Given the description of an element on the screen output the (x, y) to click on. 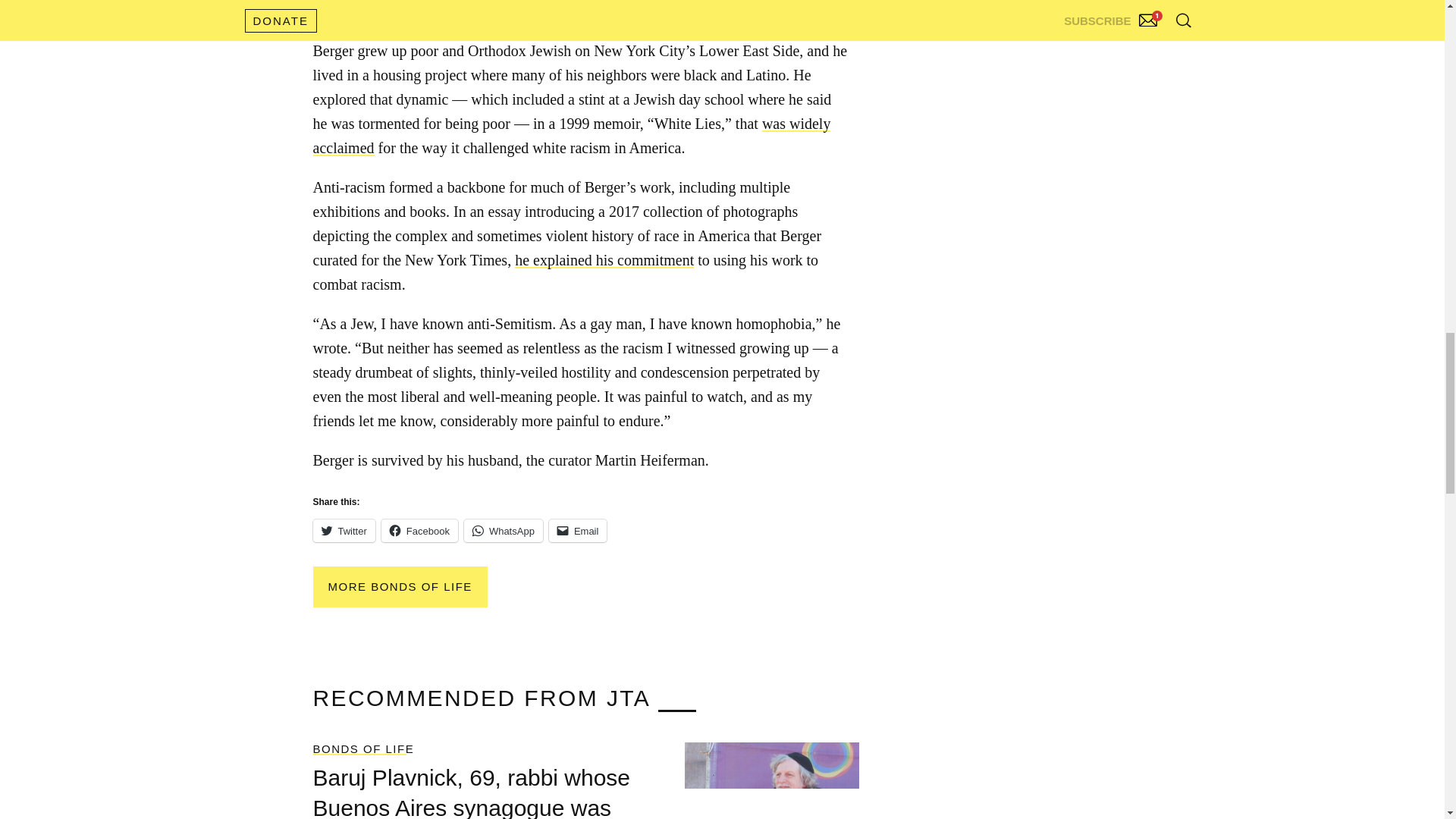
Click to share on WhatsApp (503, 530)
Click to email a link to a friend (577, 530)
Click to share on Twitter (343, 530)
Click to share on Facebook (419, 530)
